Given the description of an element on the screen output the (x, y) to click on. 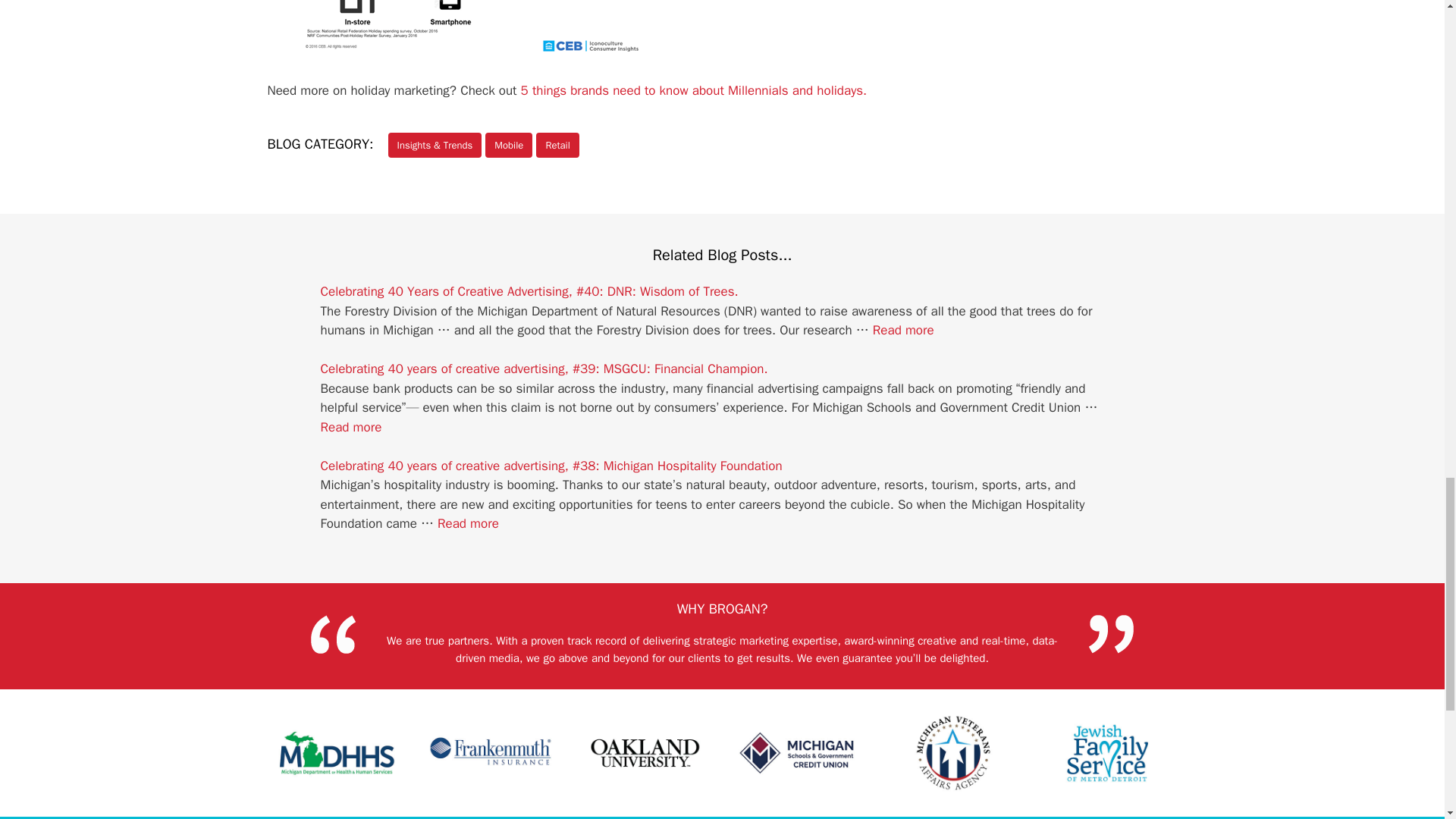
5 things brands need to know about Millennials and holidays. (694, 90)
Retail (556, 145)
Mobile (508, 145)
